Given the description of an element on the screen output the (x, y) to click on. 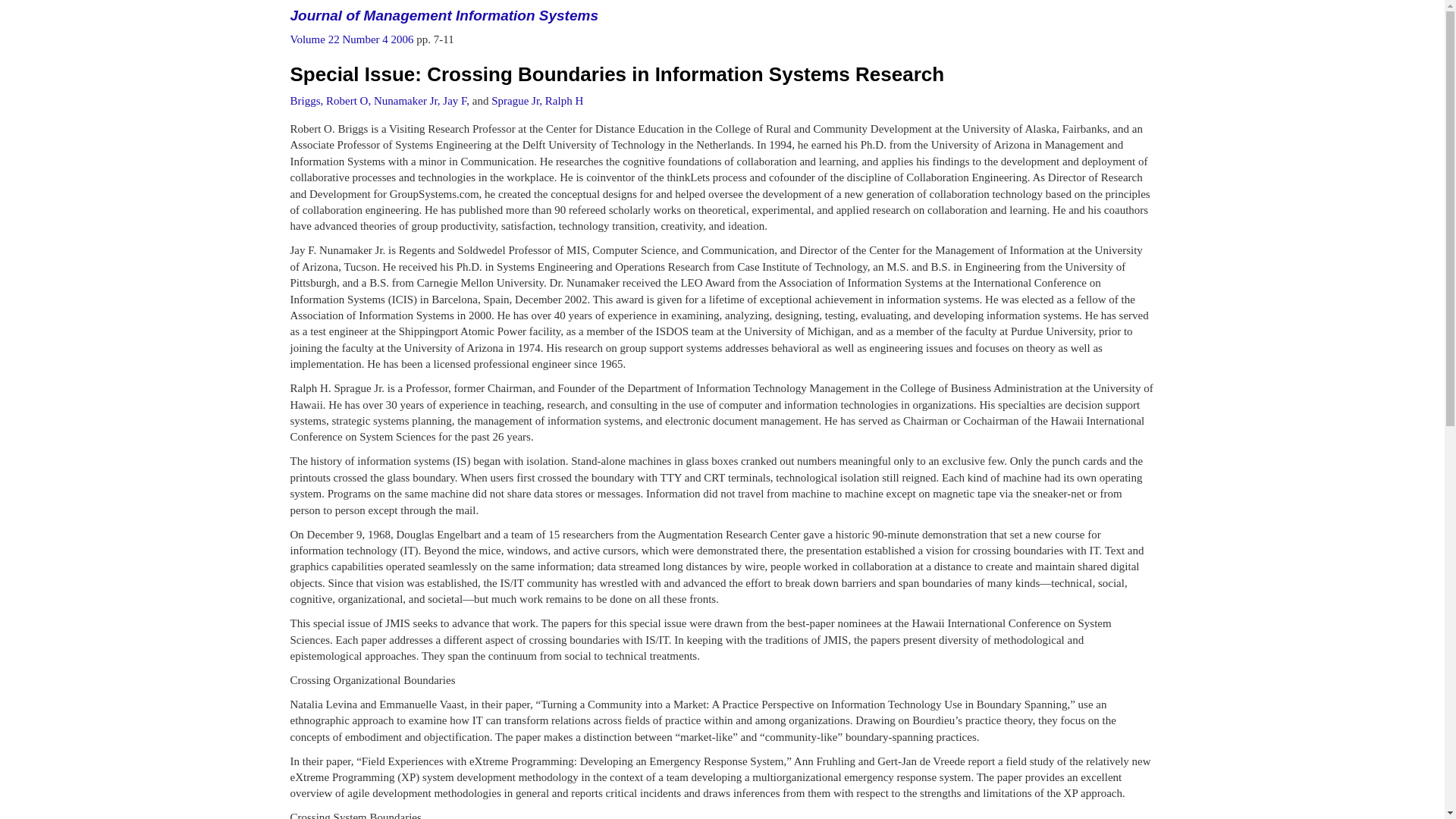
Sprague Jr, Ralph H (537, 101)
Briggs, Robert O, (330, 101)
Volume 22 Number 4 2006 (352, 39)
Nunamaker Jr, Jay F, (421, 101)
Journal of Management Information Systems (442, 15)
